Given the description of an element on the screen output the (x, y) to click on. 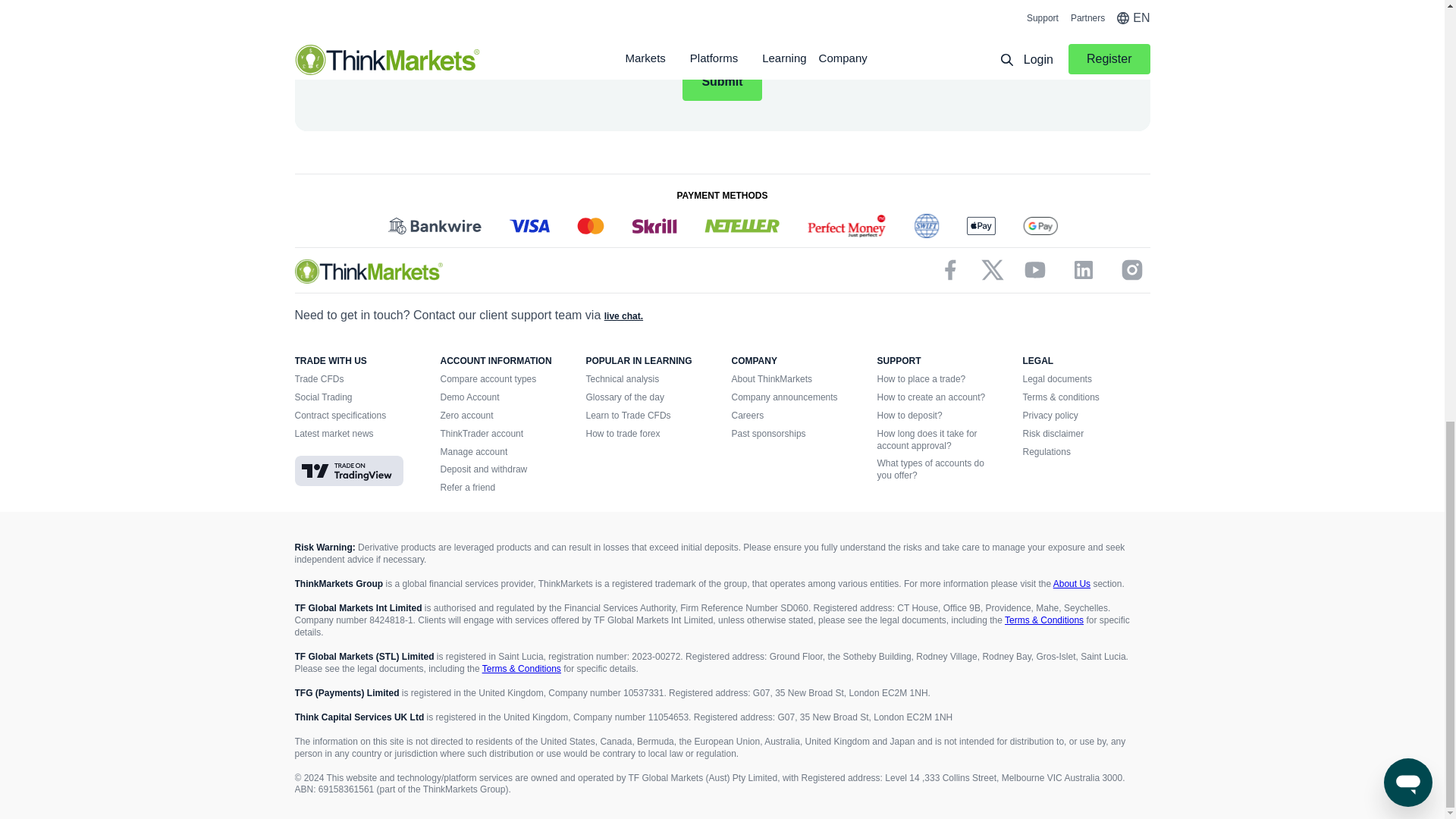
on (577, 38)
